Given the description of an element on the screen output the (x, y) to click on. 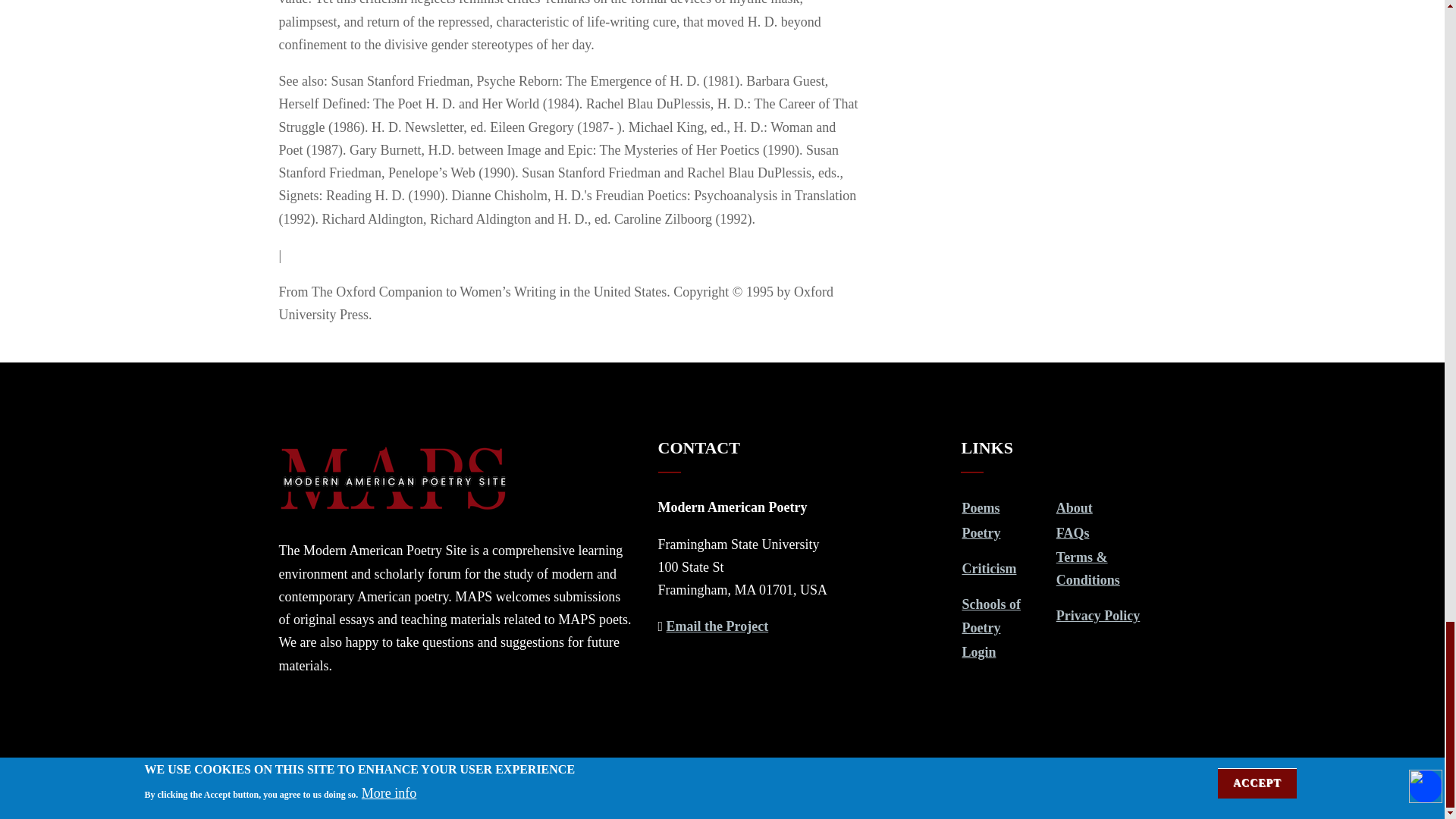
FAQs (1073, 532)
Poetry (980, 532)
Poems (979, 507)
Schools of Poetry (990, 615)
Email the Project (717, 626)
About (1075, 507)
Privacy Policy (1098, 615)
Login (977, 652)
Criticism (988, 568)
